Given the description of an element on the screen output the (x, y) to click on. 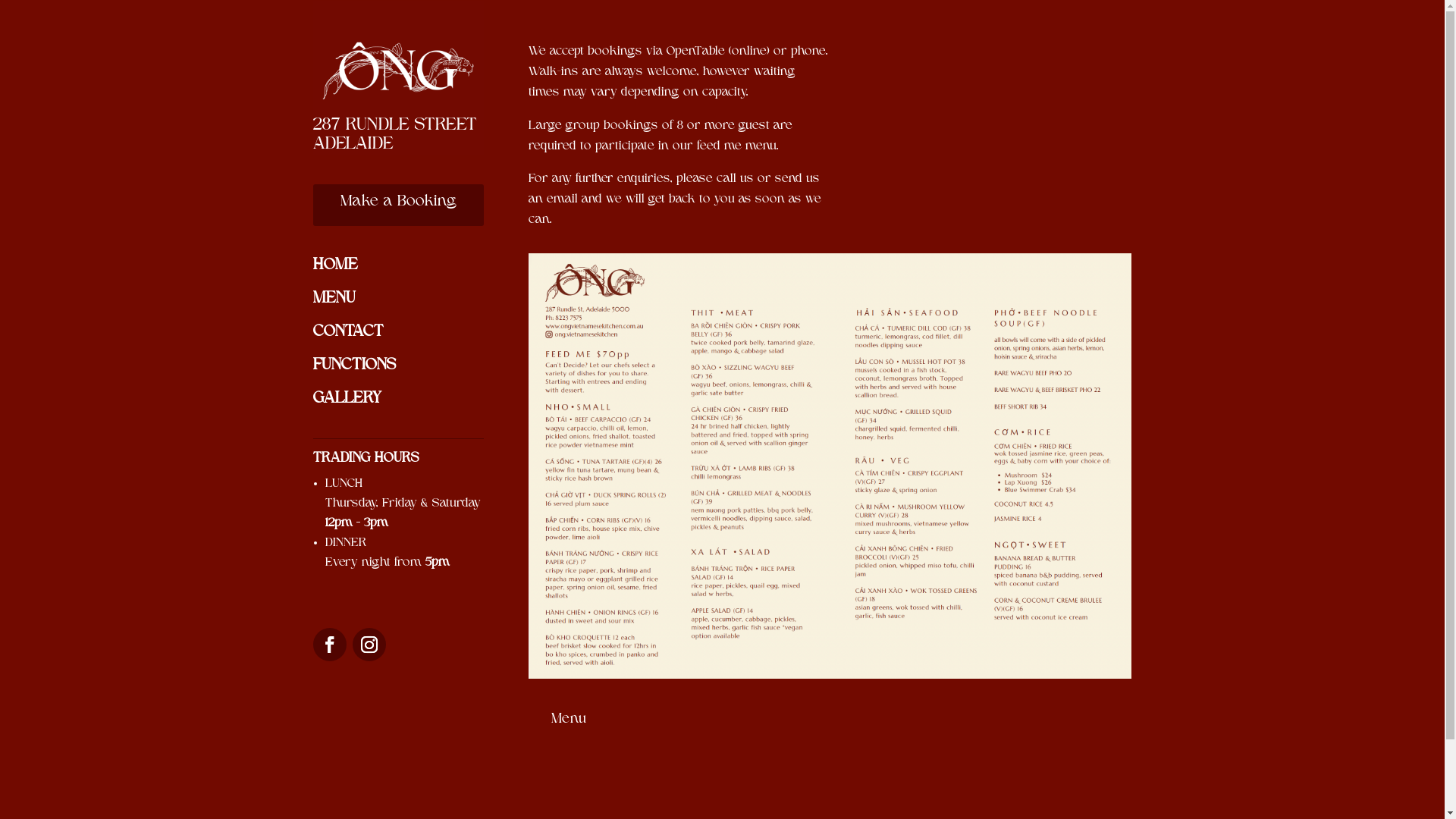
FUNCTIONS Element type: text (353, 365)
Follow on Instagram Element type: hover (368, 644)
Make a Booking Element type: text (397, 204)
Follow on Facebook Element type: hover (328, 644)
HOME Element type: text (334, 265)
CONTACT Element type: text (347, 331)
GALLERY Element type: text (346, 398)
ONG Spring Dinner menu 2023 Element type: hover (829, 465)
MENU Element type: text (333, 298)
Menu Element type: text (568, 719)
